Given the description of an element on the screen output the (x, y) to click on. 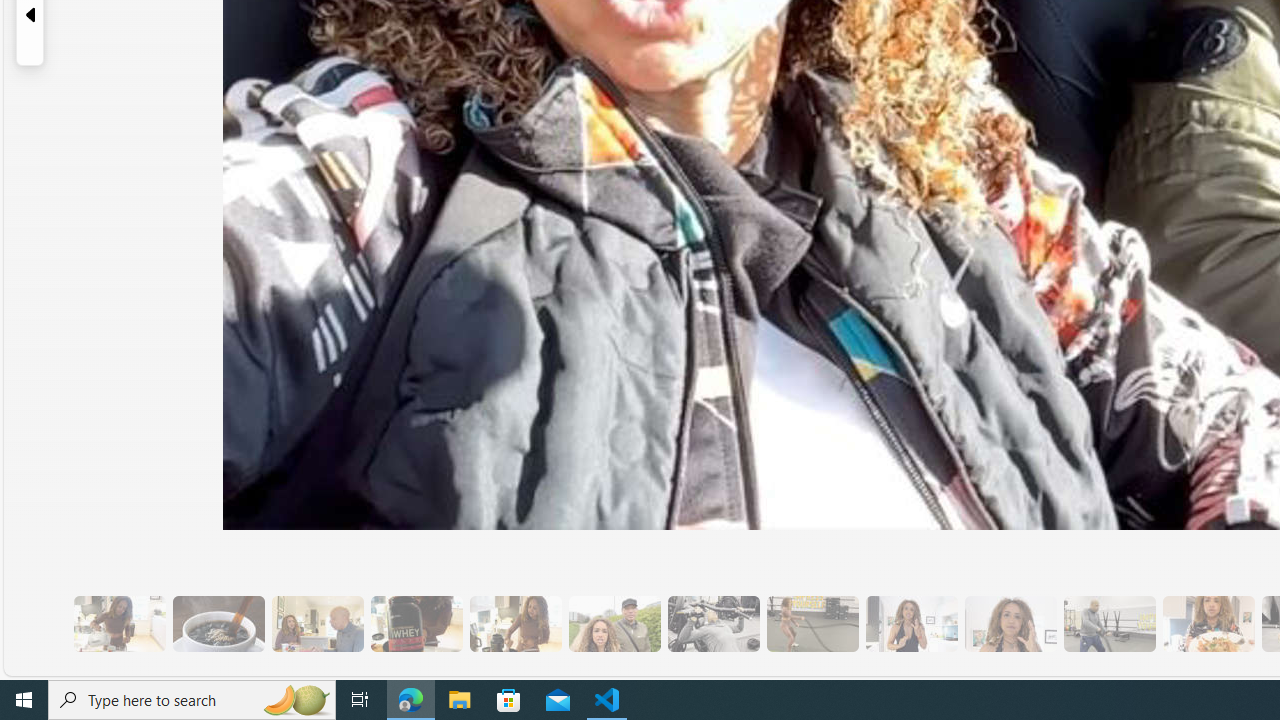
6 Since Eating More Protein Her Training Has Improved (416, 624)
6 Since Eating More Protein Her Training Has Improved (416, 624)
3 They Drink Lemon Tea (119, 624)
8 They Walk to the Gym (614, 624)
9 They Do Bench Exercises (713, 624)
9 They Do Bench Exercises (713, 624)
5 She Eats Less Than Her Husband (317, 624)
13 Her Husband Does Group Cardio Classs (1108, 624)
14 They Have Salmon and Veggies for Dinner (1208, 624)
13 Her Husband Does Group Cardio Classs (1108, 624)
3 They Drink Lemon Tea (119, 624)
8 Be Mindful of Coffee (217, 624)
11 They Eat More Protein for Breakfast (911, 624)
